Given the description of an element on the screen output the (x, y) to click on. 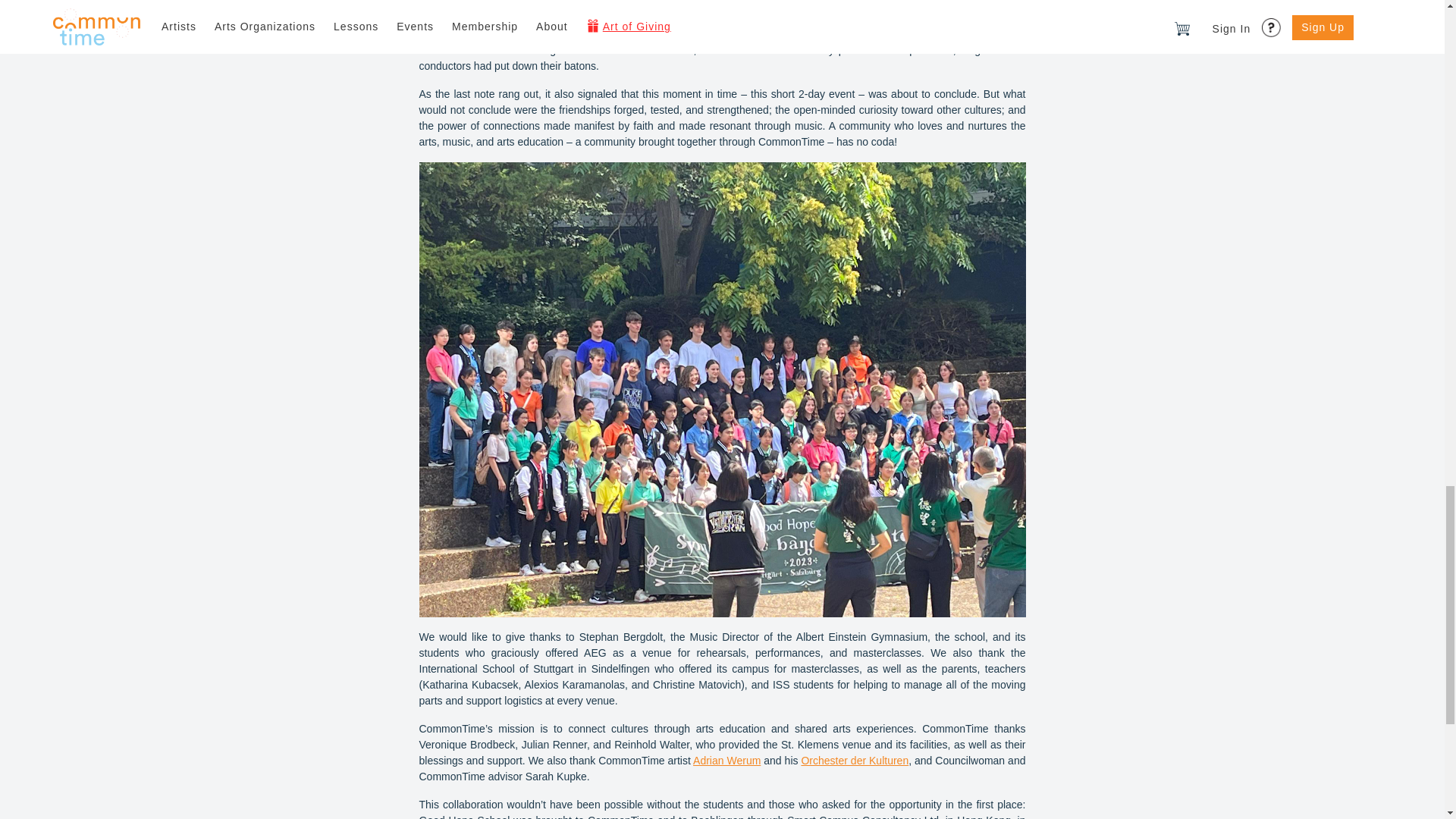
Adrian Werum (726, 760)
Orchester der Kulturen (854, 760)
